Given the description of an element on the screen output the (x, y) to click on. 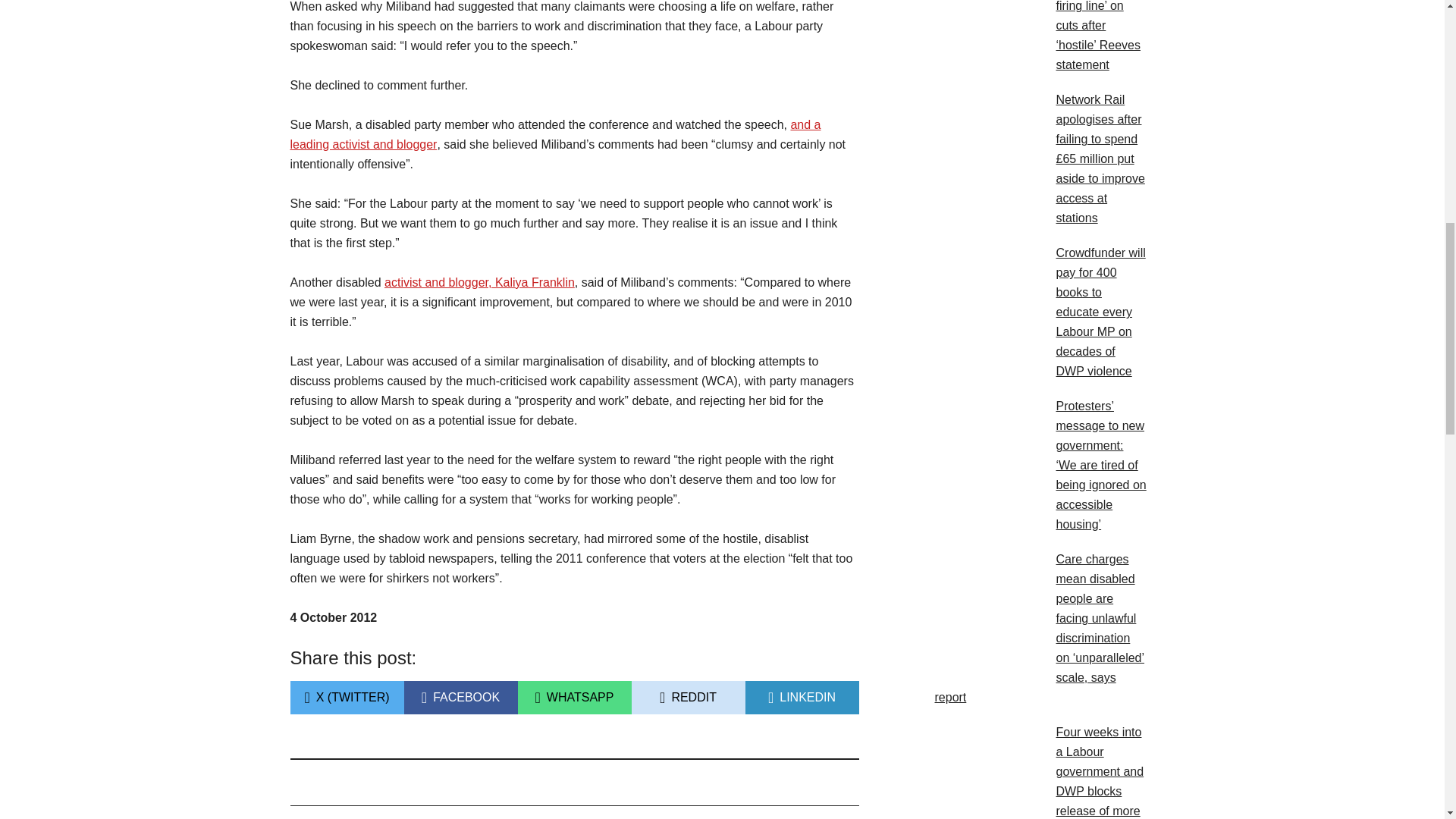
activist and blogger, Kaliya Franklin (479, 282)
and a leading activist and blogger (801, 703)
